Given the description of an element on the screen output the (x, y) to click on. 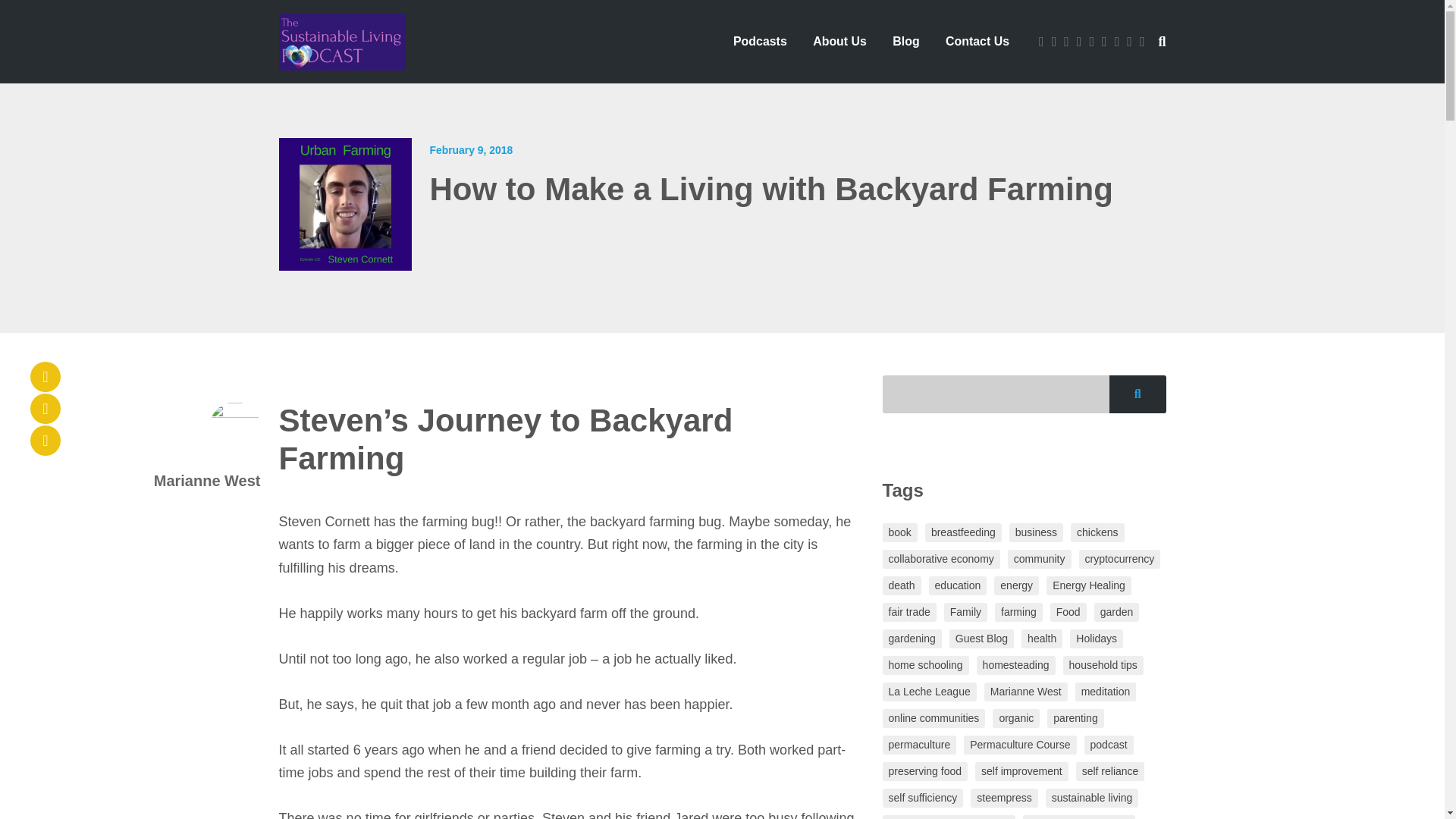
Contact Us (977, 41)
Podcasts (759, 41)
About Us (839, 41)
